Given the description of an element on the screen output the (x, y) to click on. 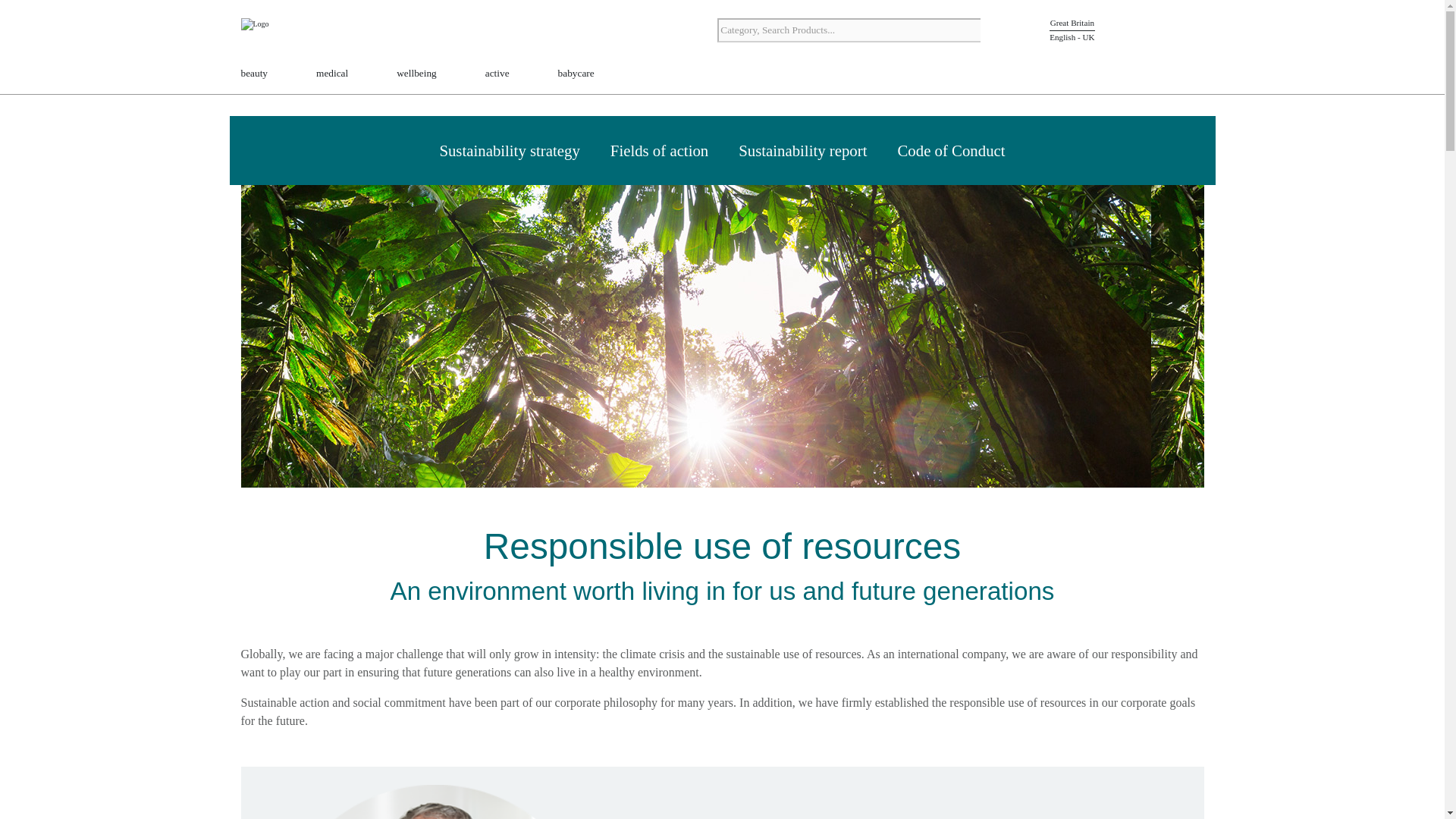
medical (331, 73)
babycare (575, 73)
Logo (287, 31)
wellbeing (416, 73)
active (496, 73)
beauty (254, 73)
beauty (254, 73)
